Given the description of an element on the screen output the (x, y) to click on. 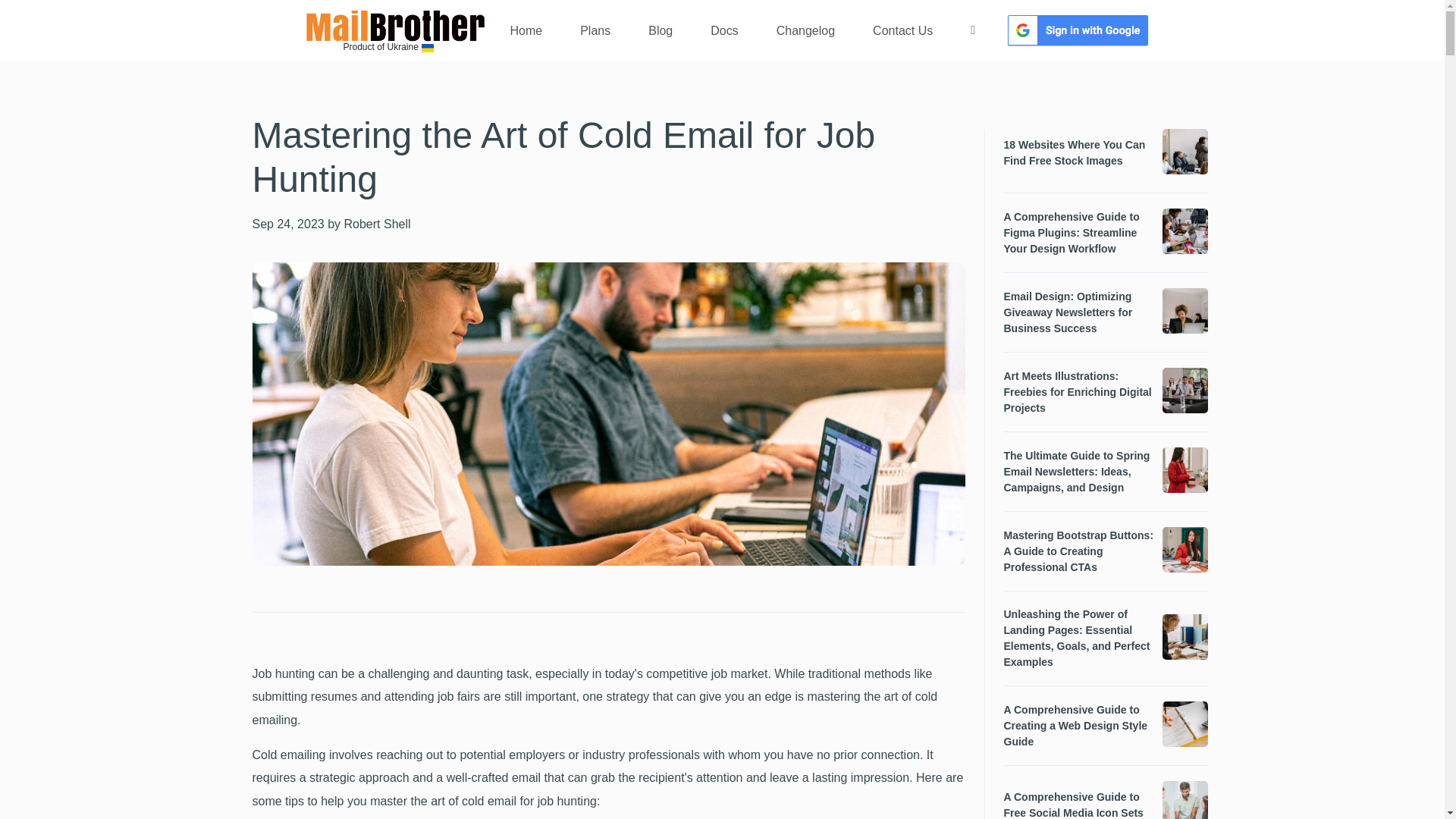
Docs (724, 30)
Changelog (805, 30)
Plans (594, 30)
A Comprehensive Guide to Creating a Web Design Style Guide (1079, 725)
18 Websites Where You Can Find Free Stock Images (1079, 152)
Product of Ukraine (393, 45)
Contact Us (902, 30)
Home (527, 30)
A Comprehensive Guide to Free Social Media Icon Sets (1079, 804)
Blog (659, 30)
